Given the description of an element on the screen output the (x, y) to click on. 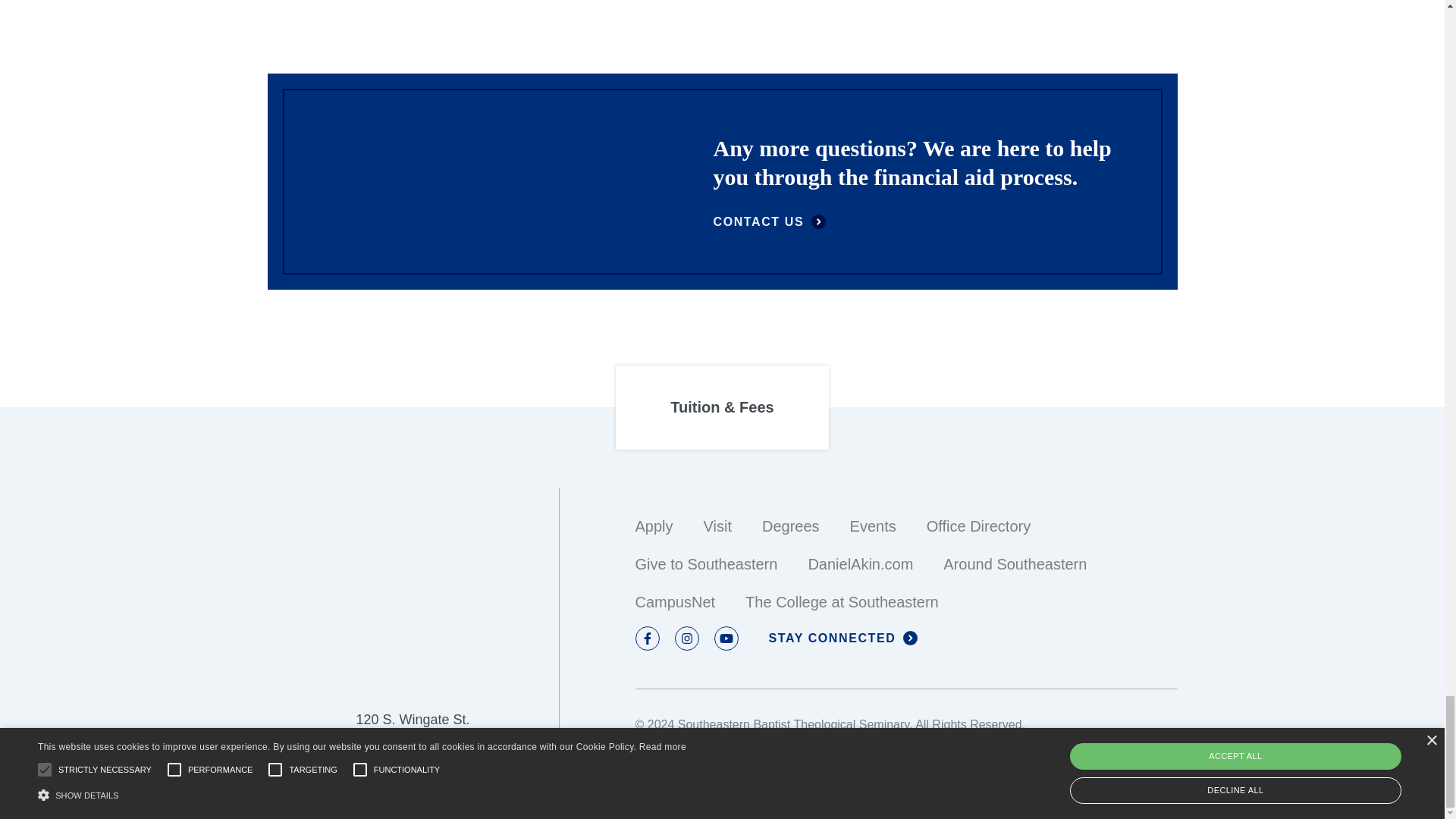
Return to Homepage (411, 676)
